Given the description of an element on the screen output the (x, y) to click on. 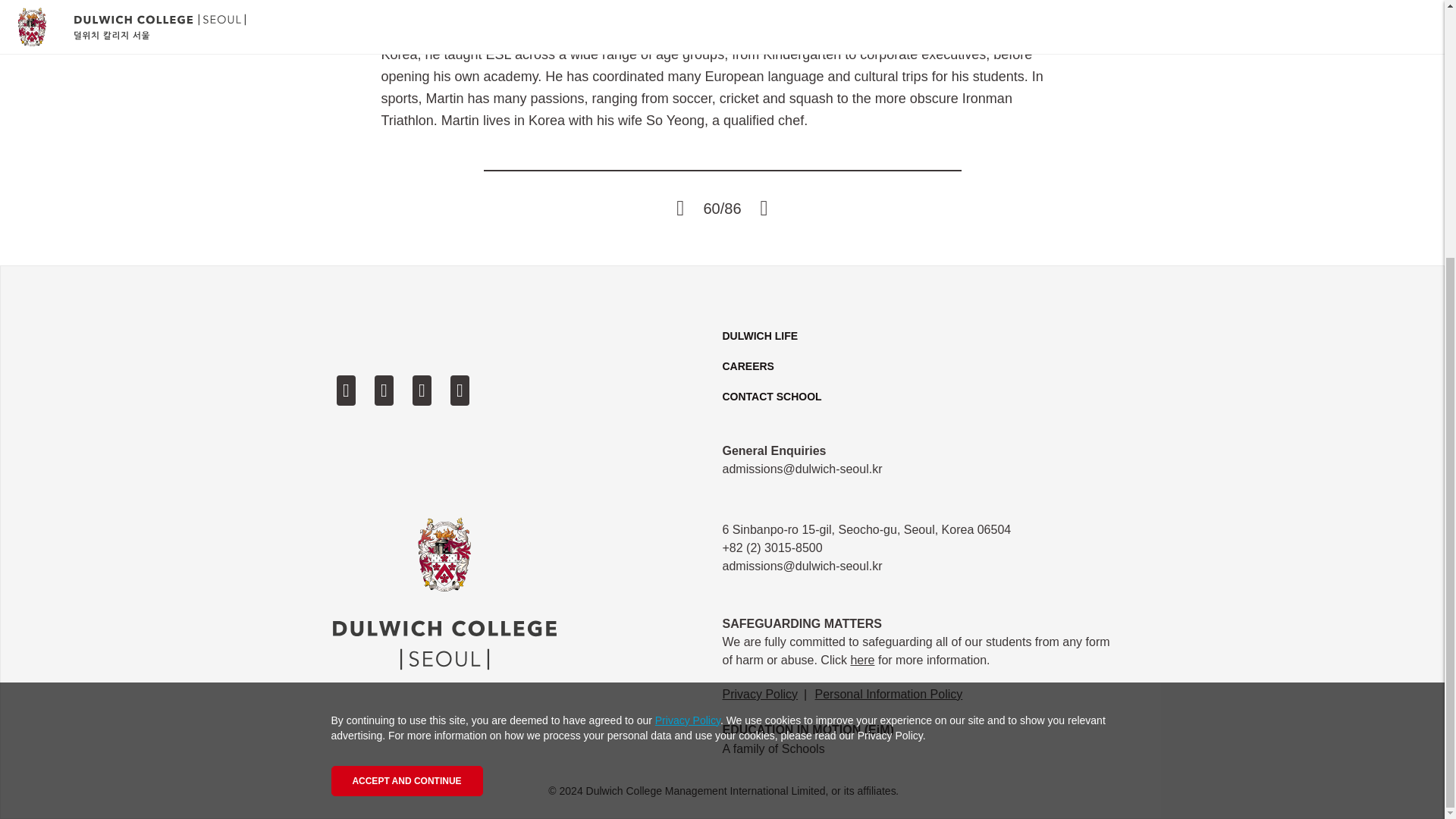
CAREERS (747, 366)
CONTACT SCHOOL (771, 396)
Next (764, 208)
Privacy Policy (760, 694)
here (862, 659)
DULWICH LIFE (759, 336)
Previous (679, 208)
Personal Information Policy (890, 694)
A family of Schools (773, 748)
